Given the description of an element on the screen output the (x, y) to click on. 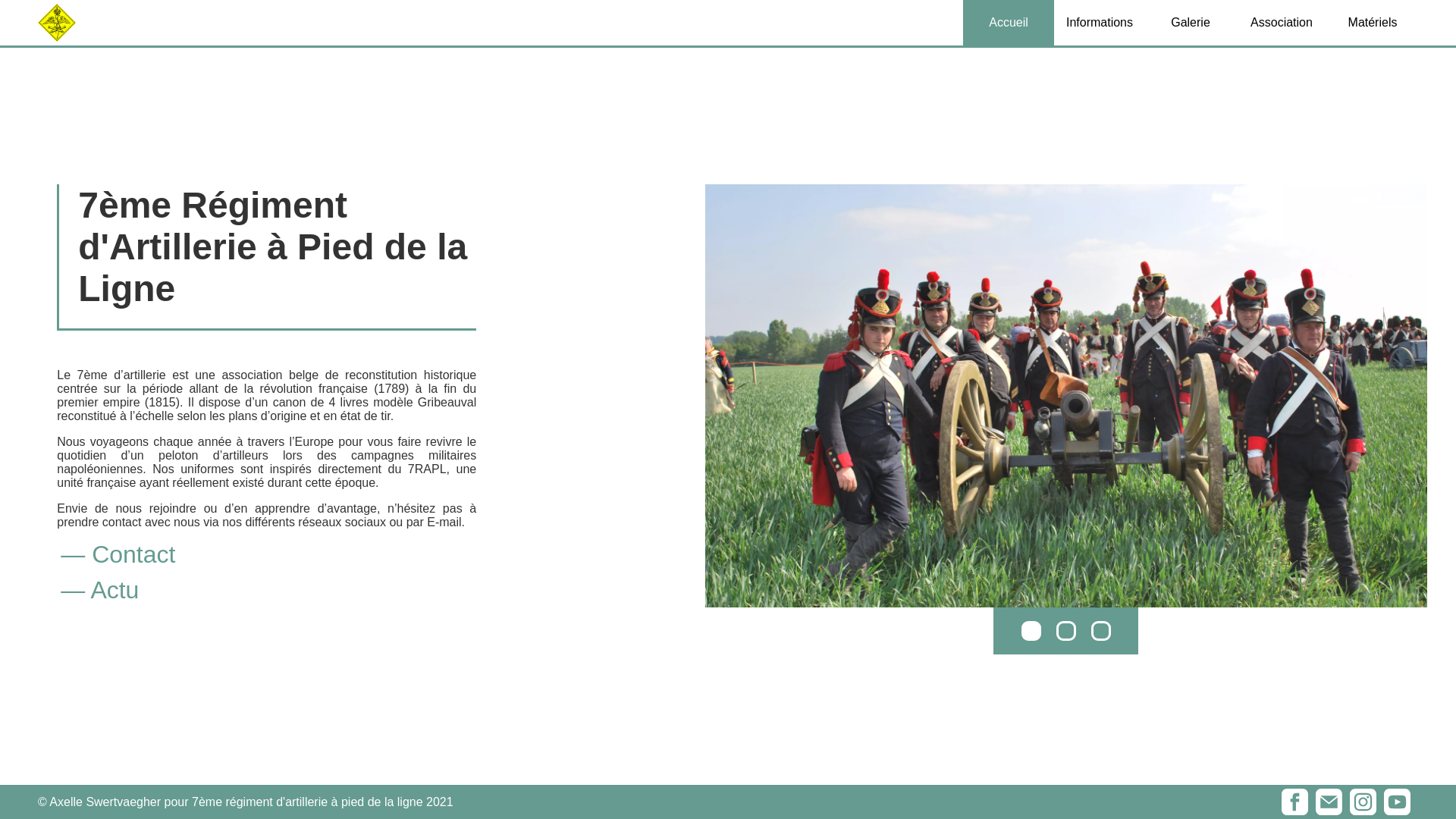
Informations Element type: text (1099, 22)
Accueil Element type: text (1008, 22)
Association Element type: text (1281, 22)
Galerie Element type: text (1190, 22)
